Given the description of an element on the screen output the (x, y) to click on. 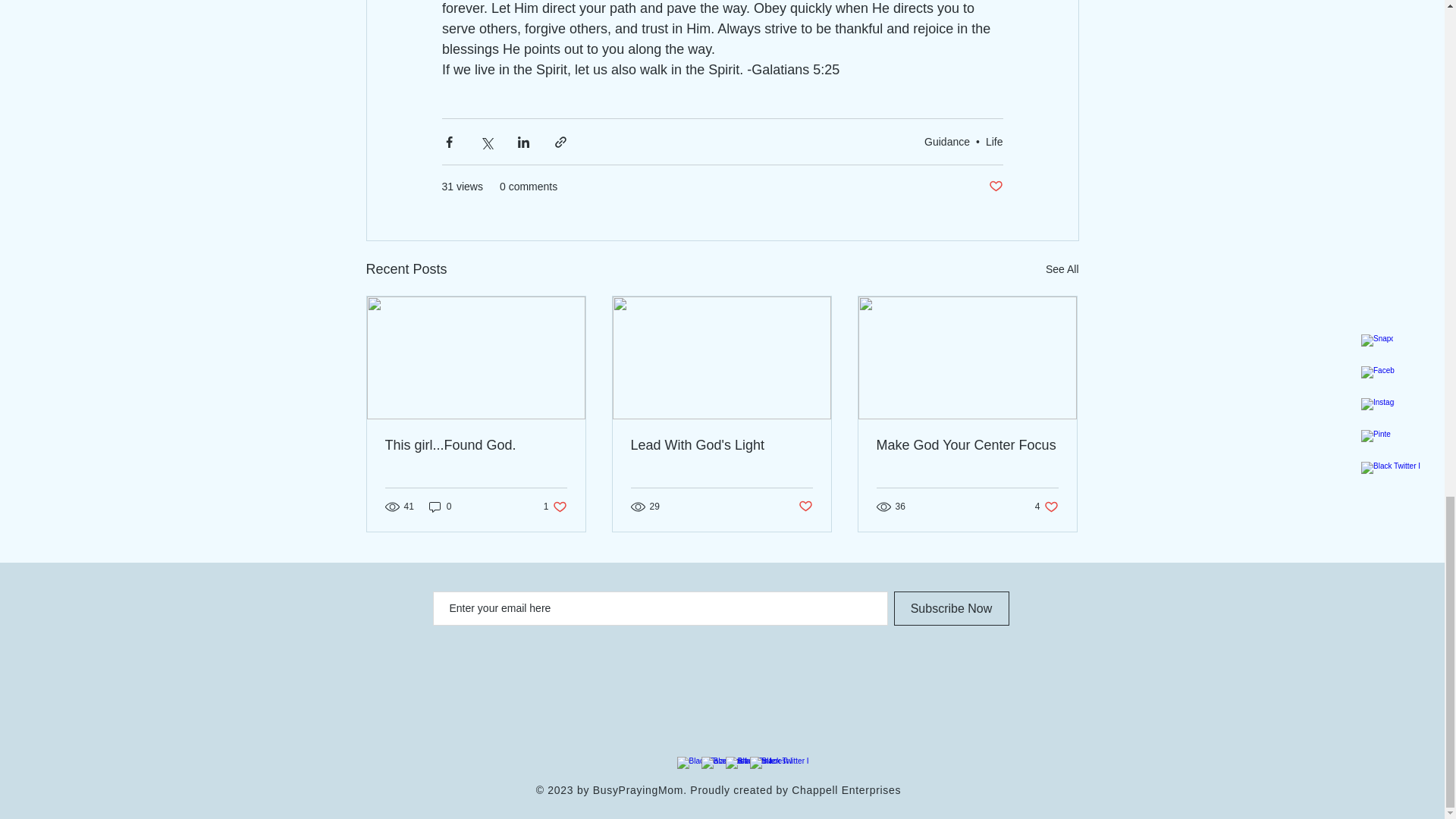
Guidance (946, 141)
0 (1046, 506)
Lead With God's Light (440, 506)
Post not marked as liked (721, 445)
Make God Your Center Focus (995, 186)
See All (967, 445)
Post not marked as liked (1061, 269)
Life (555, 506)
